Given the description of an element on the screen output the (x, y) to click on. 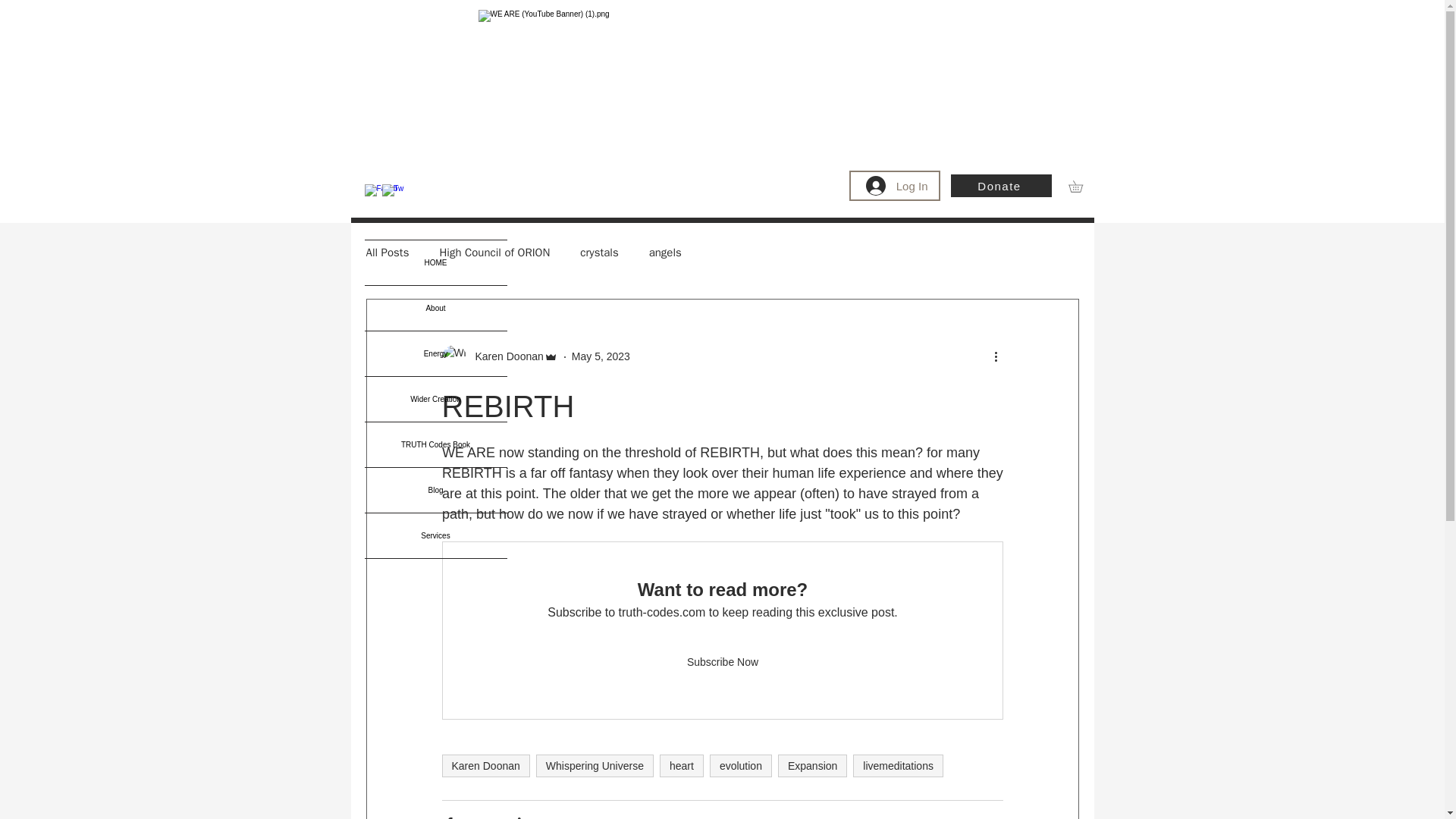
Log In (897, 185)
heart (681, 765)
Whispering Universe (594, 765)
High Council of ORION (494, 252)
Energy (435, 353)
HOME (435, 262)
May 5, 2023 (601, 356)
livemeditations (898, 765)
crystals (598, 252)
Karen Doonan (485, 765)
About (435, 307)
Karen Doonan (499, 356)
Subscribe Now (722, 662)
Wider Creation (435, 398)
Karen Doonan (504, 356)
